Given the description of an element on the screen output the (x, y) to click on. 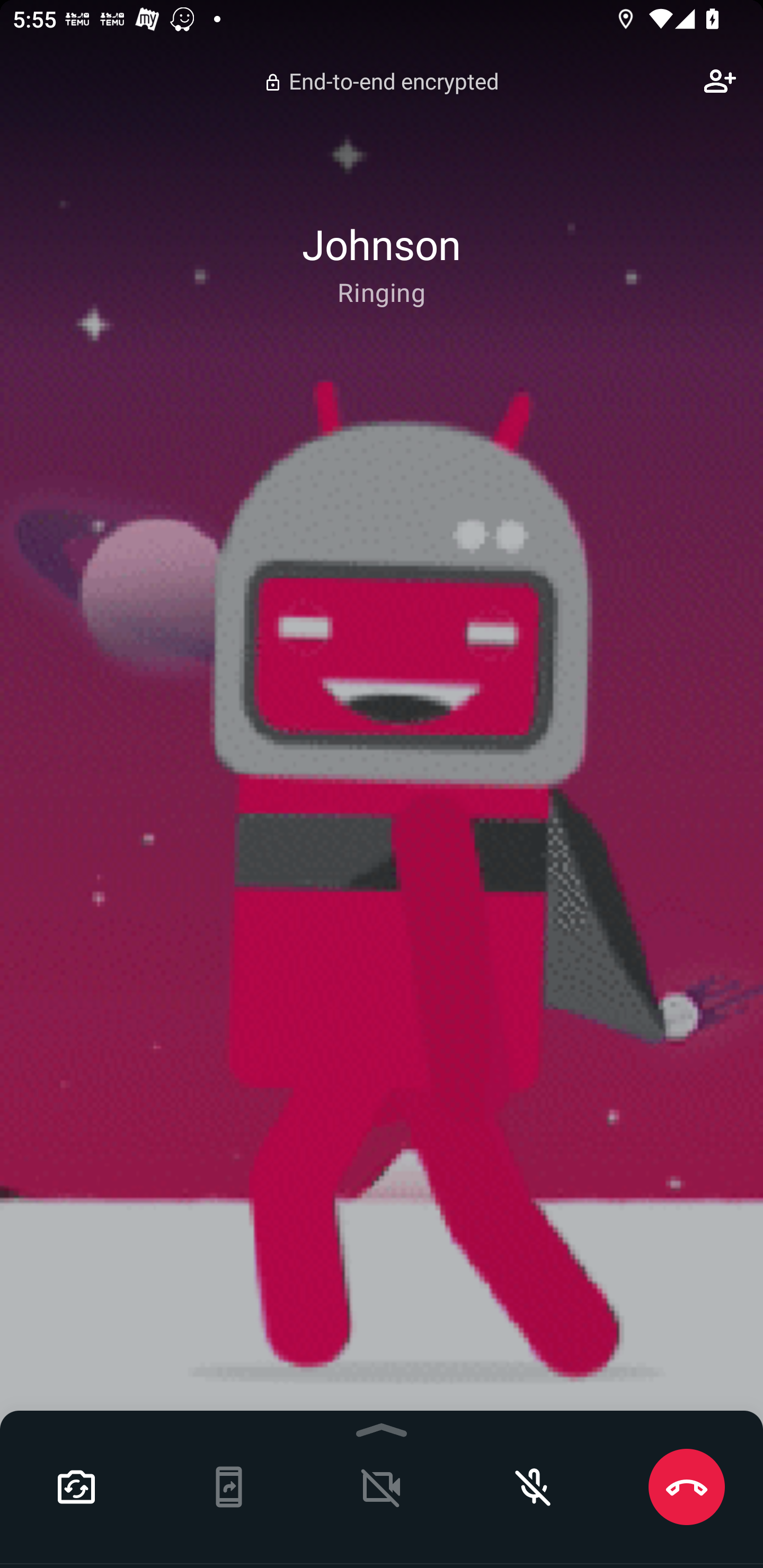
Switch camera (76, 1486)
Start screen sharing (228, 1486)
Turn camera off (381, 1486)
Mute microphone (533, 1486)
Leave call (686, 1486)
